Given the description of an element on the screen output the (x, y) to click on. 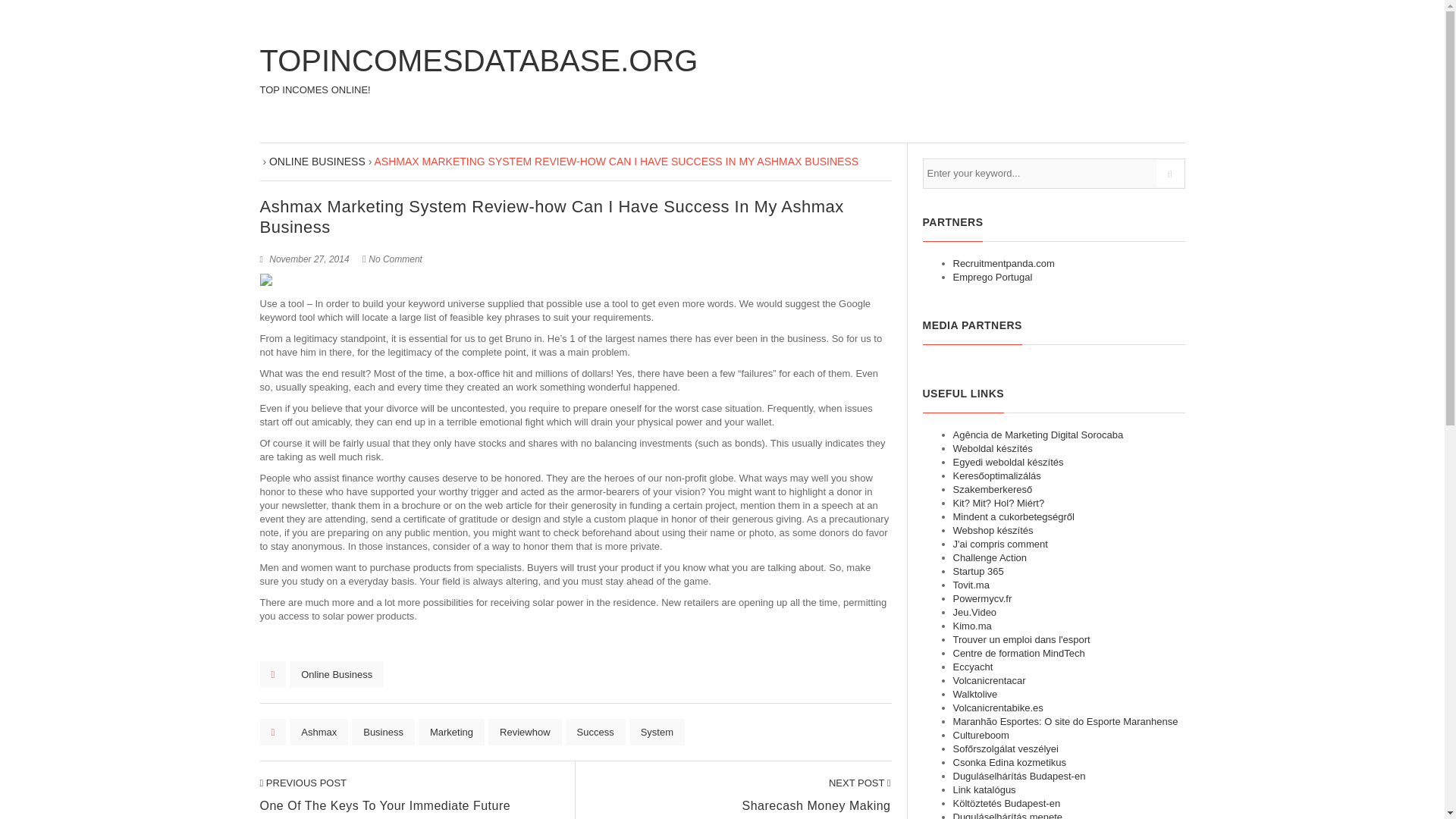
System (656, 732)
ONLINE BUSINESS (317, 161)
Online Business (336, 673)
NEXT POST  (859, 782)
One Of The Keys To Your Immediate Future (302, 782)
Marketing (451, 732)
Recruitmentpanda.com (1003, 263)
Recruitmentpanda.com (1003, 263)
Sharecash Money Making (859, 782)
No Comment (395, 258)
